Given the description of an element on the screen output the (x, y) to click on. 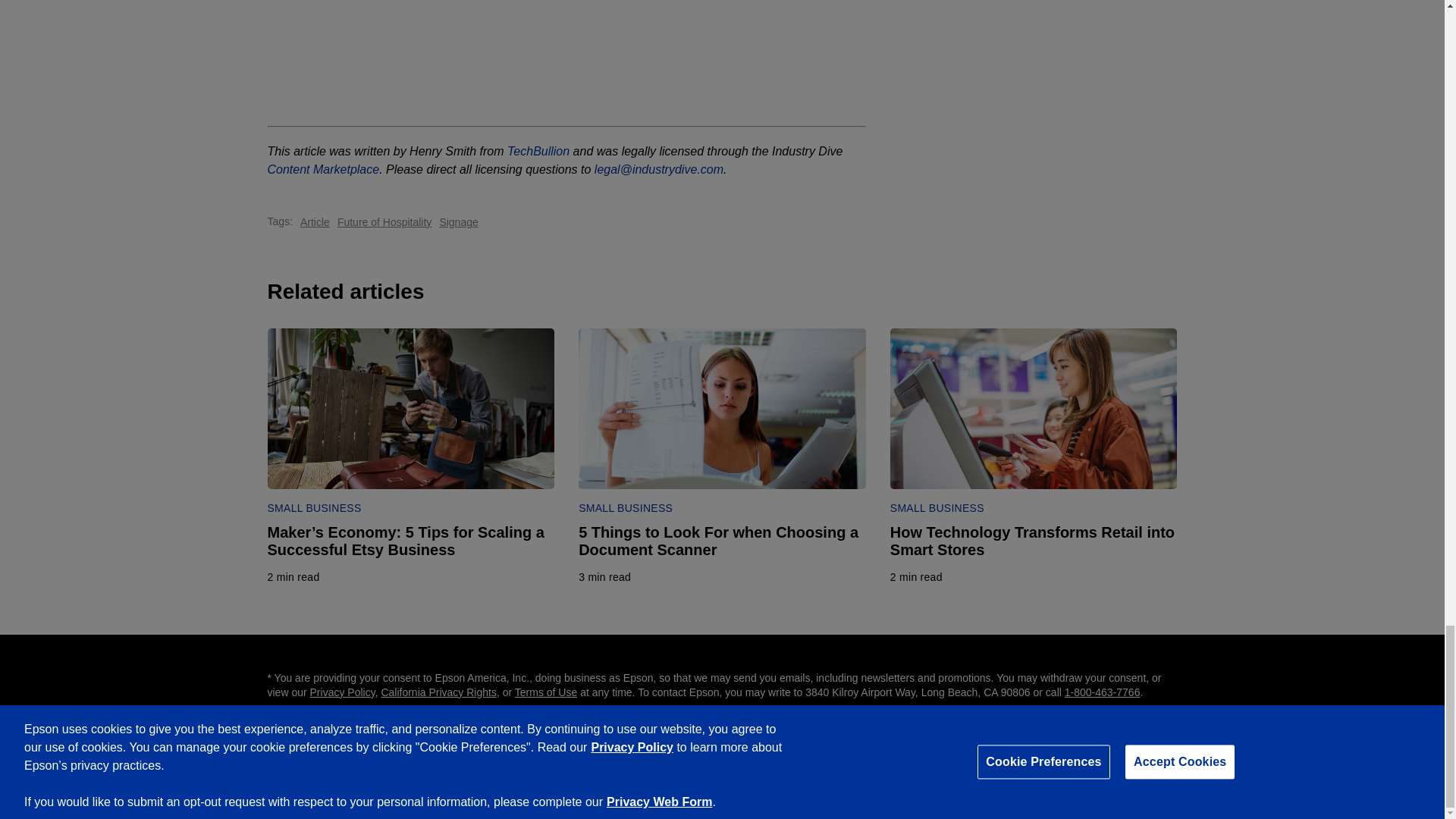
California Privacy Rights (438, 692)
Article (314, 221)
YouTube video player (566, 52)
How Technology Transforms Retail into Smart Stores (1033, 541)
Signage (458, 221)
SMALL BUSINESS (936, 508)
Enterprise (981, 775)
Education (918, 775)
Terms of Use (545, 692)
Small Business (605, 576)
TechBullion (1056, 775)
SMALL BUSINESS (537, 151)
Privacy Policy (625, 508)
Content Marketplace (342, 692)
